Given the description of an element on the screen output the (x, y) to click on. 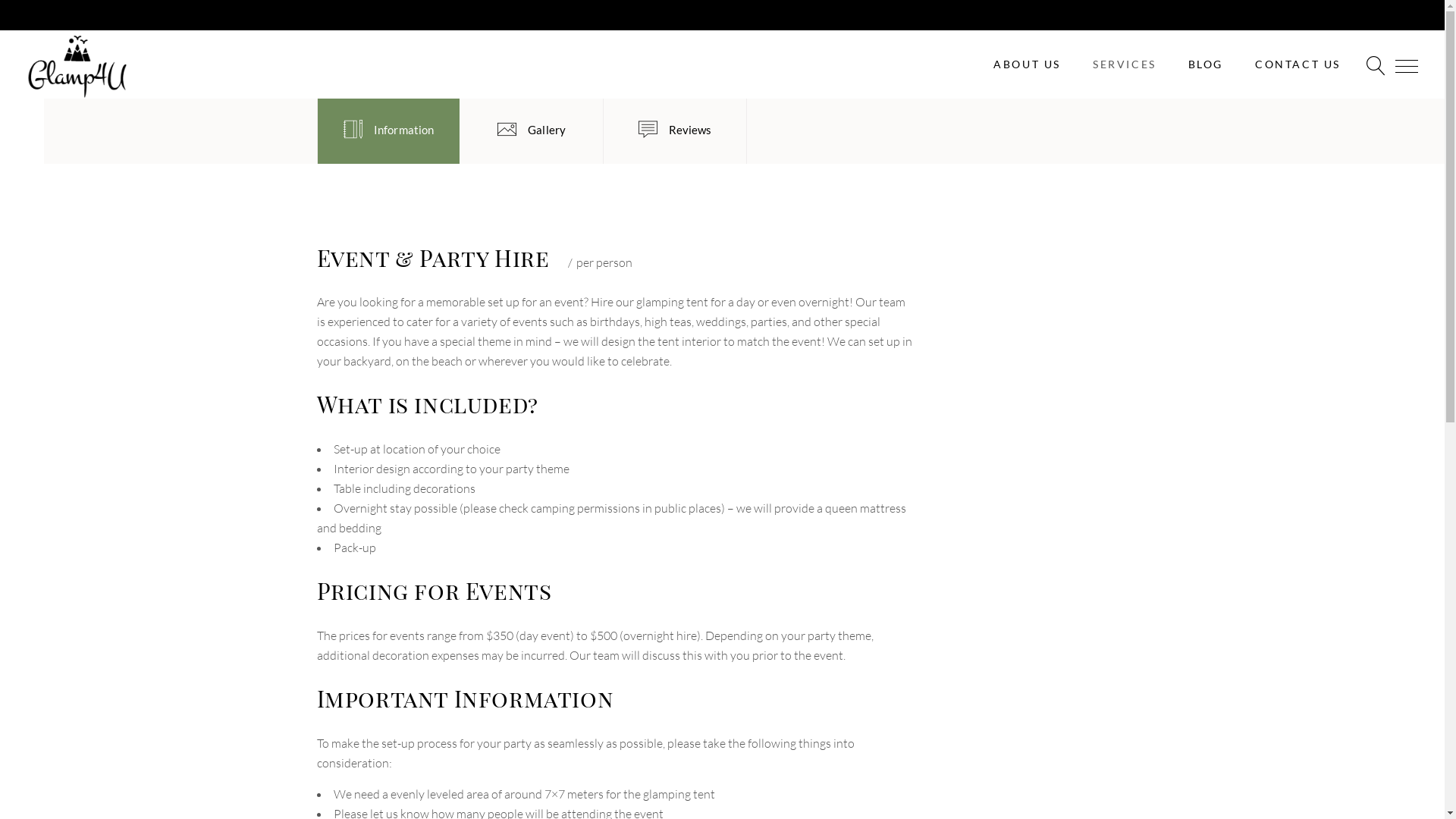
ABOUT US Element type: text (1026, 64)
BLOG Element type: text (1205, 64)
Reviews Element type: text (674, 130)
SERVICES Element type: text (1124, 64)
Gallery Element type: text (530, 130)
Information Element type: text (388, 130)
CONTACT US Element type: text (1297, 64)
